Given the description of an element on the screen output the (x, y) to click on. 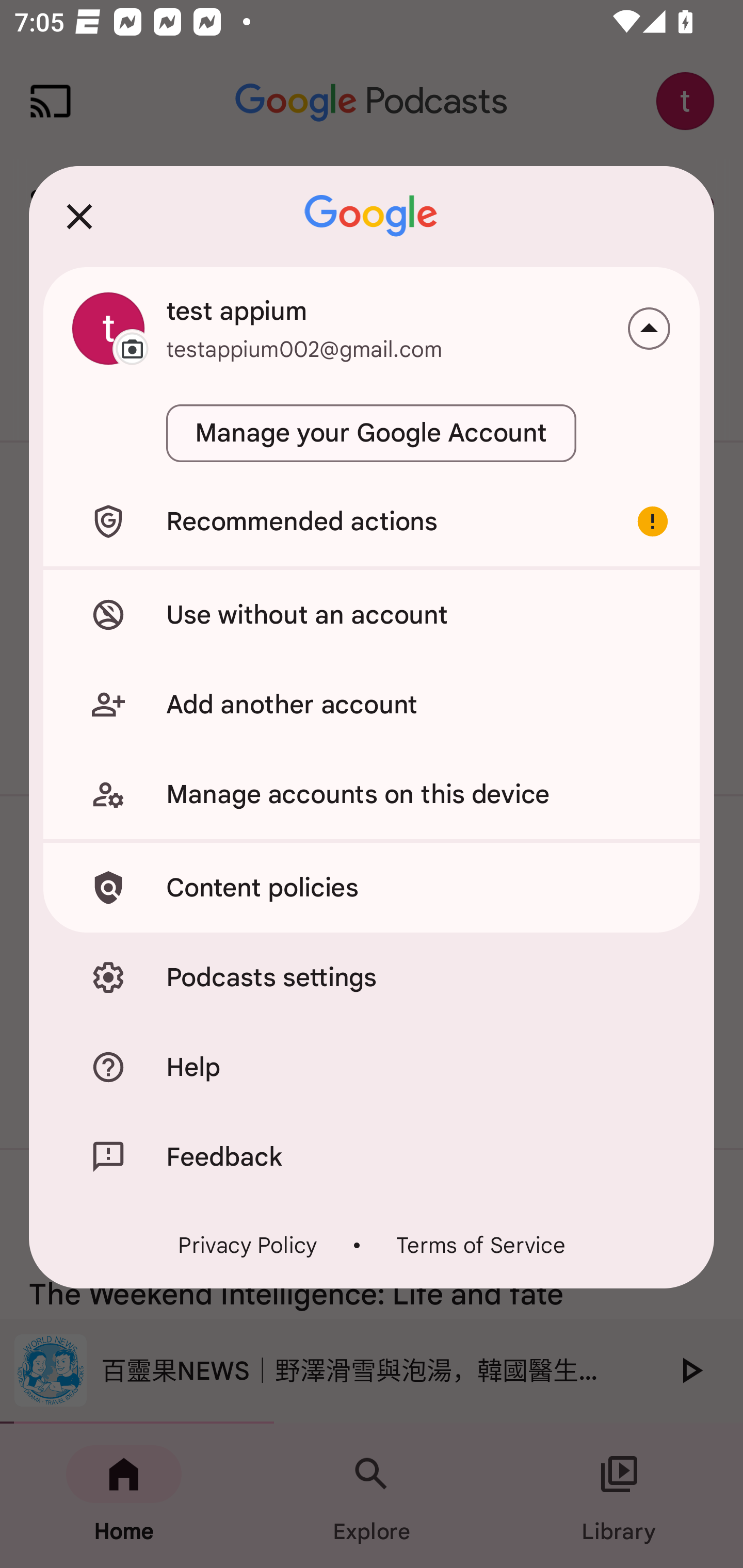
Close (79, 216)
Change profile picture. (108, 328)
Manage your Google Account (371, 433)
Recommended actions Important account alert (371, 521)
Use without an account (371, 614)
Add another account (371, 704)
Manage accounts on this device (371, 793)
Content policies (371, 887)
Privacy Policy (247, 1244)
Terms of Service (479, 1244)
